Given the description of an element on the screen output the (x, y) to click on. 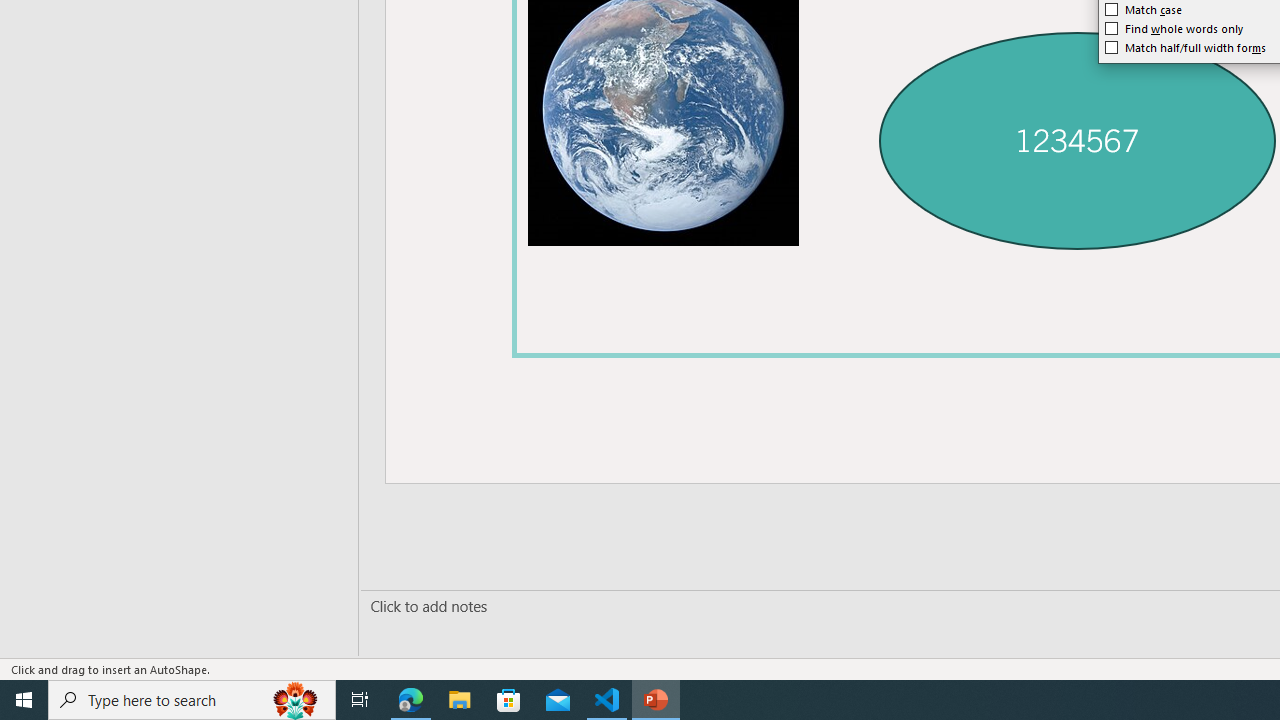
Match case (1144, 10)
Match half/full width forms (1186, 48)
Find whole words only (1174, 28)
